Given the description of an element on the screen output the (x, y) to click on. 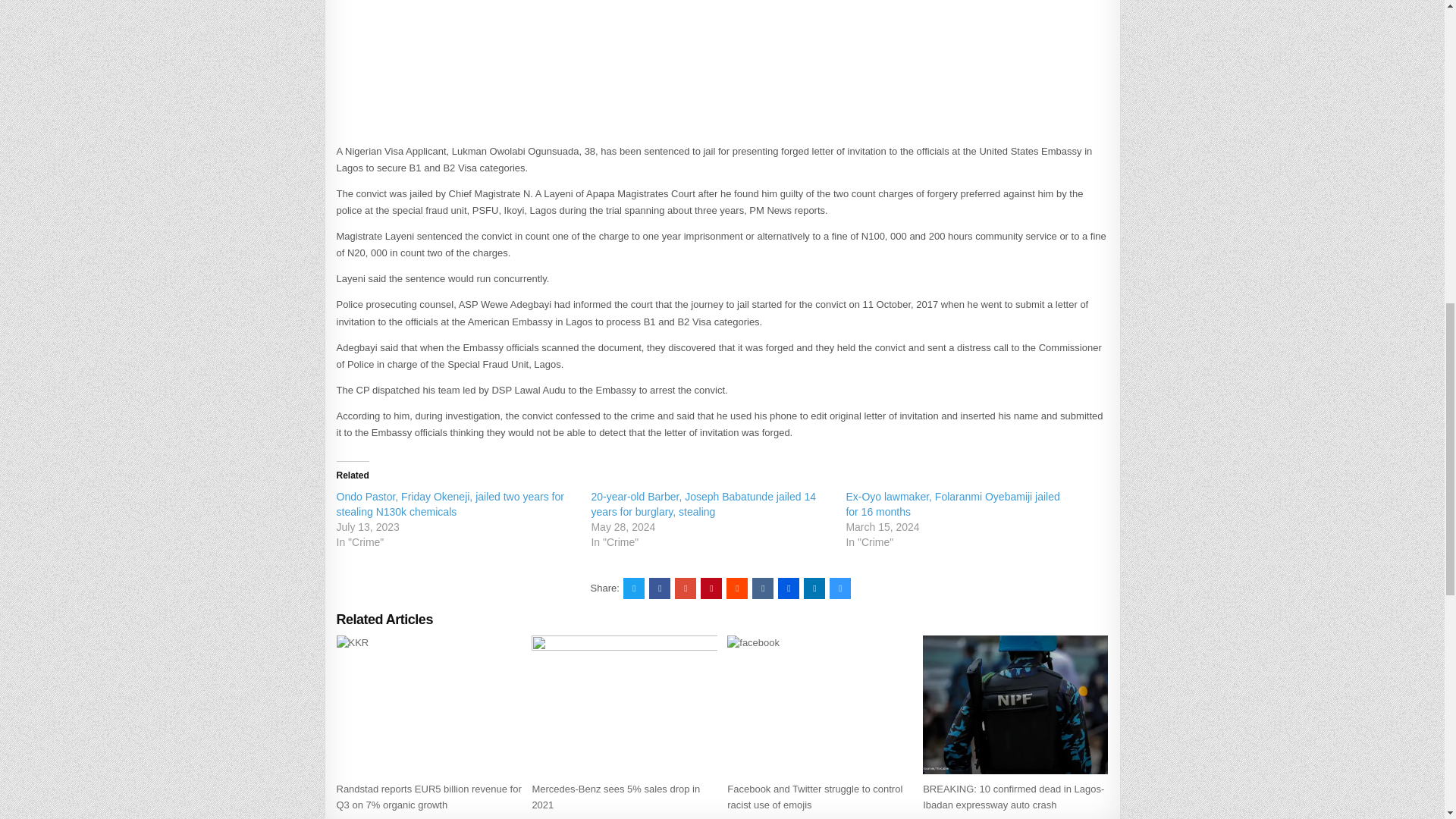
Ex-Oyo lawmaker, Folaranmi Oyebamiji jailed for 16 months (952, 503)
